Given the description of an element on the screen output the (x, y) to click on. 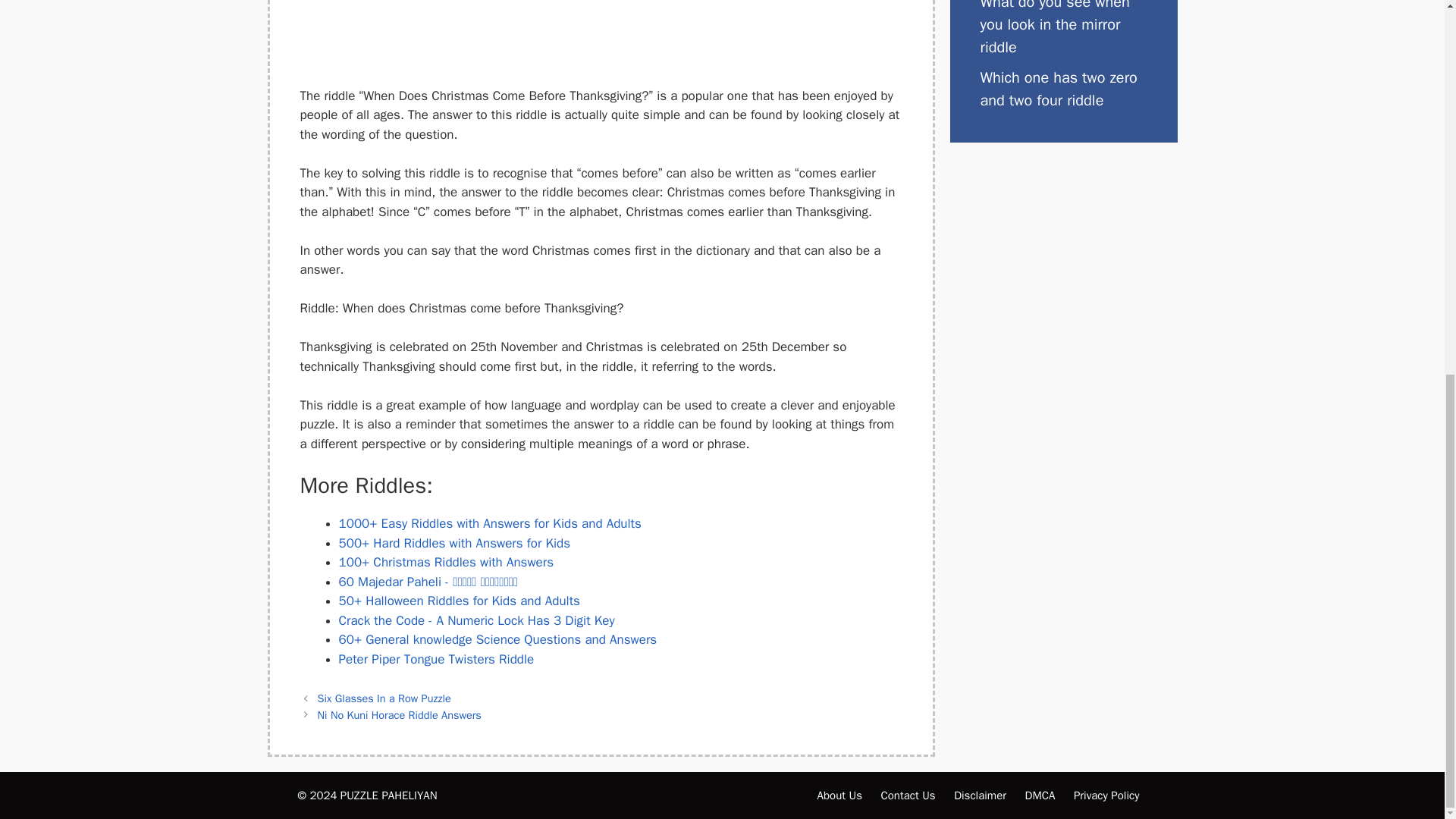
Ni No Kuni Horace Riddle Answers (399, 714)
Six Glasses In a Row Puzzle (384, 698)
Peter Piper Tongue Twisters Riddle (435, 659)
Crack the Code - A Numeric Lock Has 3 Digit Key (475, 620)
